Given the description of an element on the screen output the (x, y) to click on. 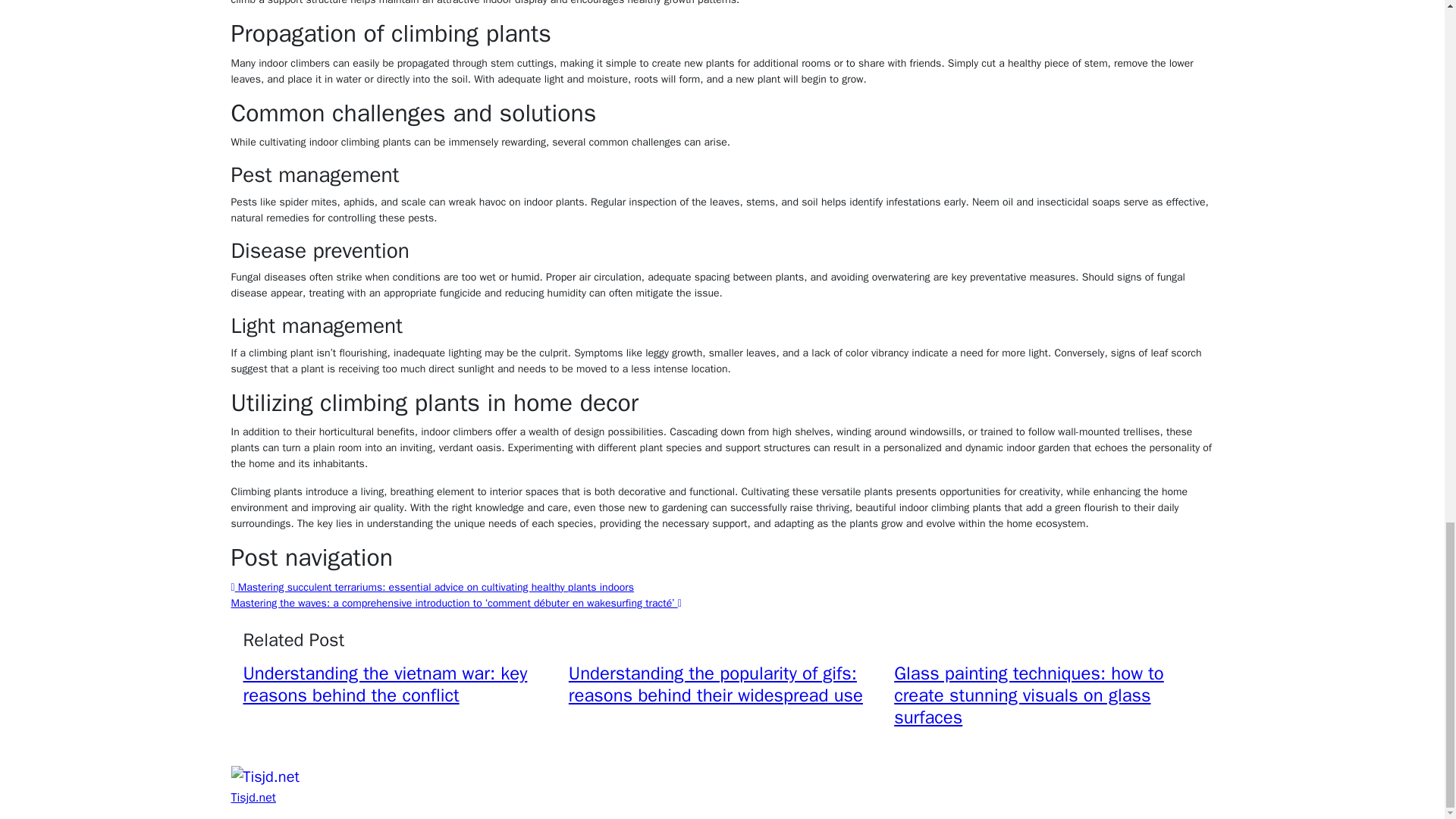
Tisjd.net (252, 797)
